Given the description of an element on the screen output the (x, y) to click on. 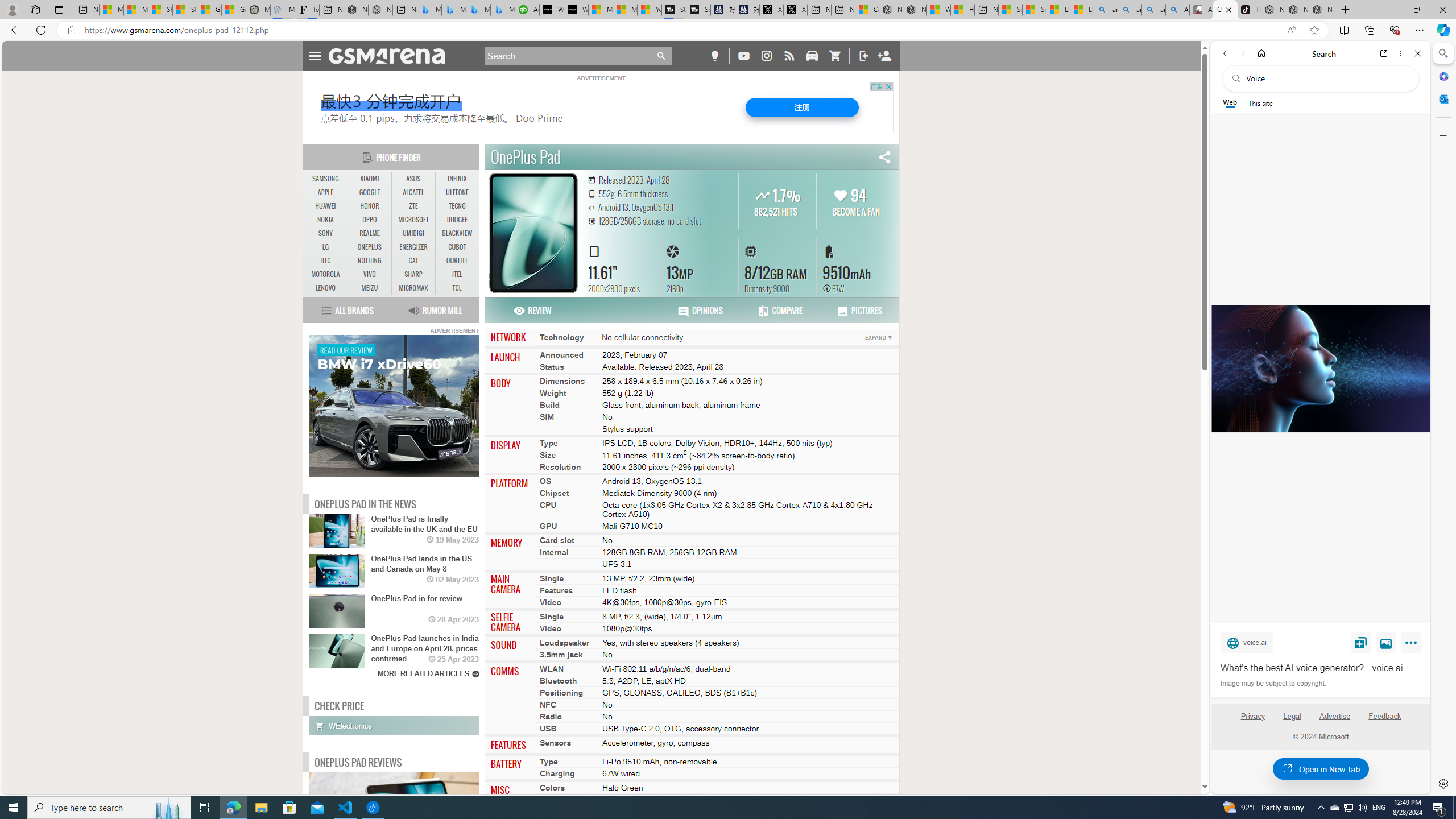
SHARP (413, 273)
Card slot (557, 540)
This site scope (1259, 102)
NOTHING (369, 260)
Radio (551, 716)
NOTHING (369, 260)
OUKITEL (457, 260)
Streaming Coverage | T3 (673, 9)
